Given the description of an element on the screen output the (x, y) to click on. 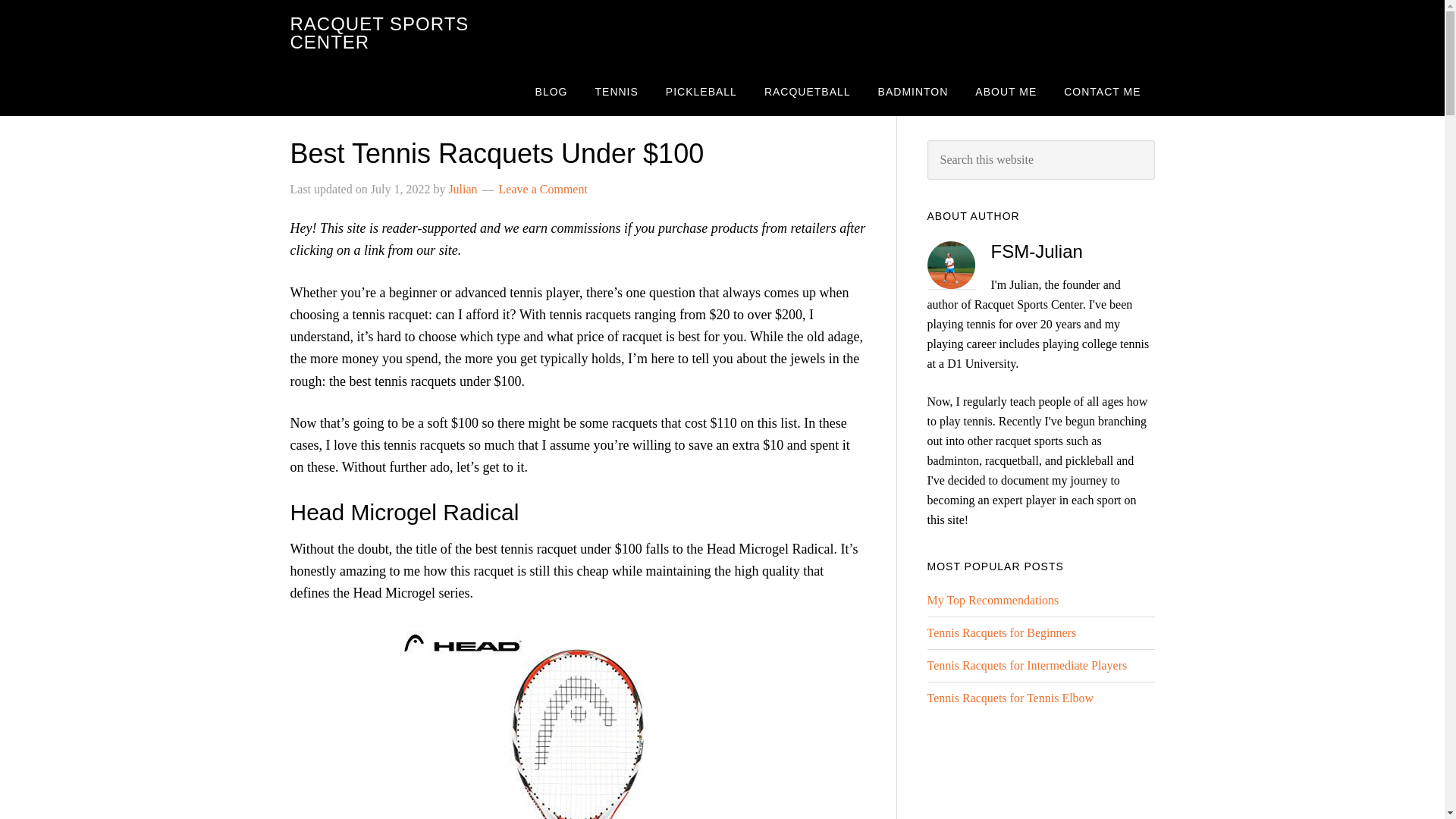
Leave a Comment (543, 188)
PICKLEBALL (701, 91)
CONTACT ME (1101, 91)
RACQUET SPORTS CENTER (378, 32)
Julian (462, 188)
ABOUT ME (1004, 91)
TENNIS (615, 91)
RACQUETBALL (807, 91)
